Given the description of an element on the screen output the (x, y) to click on. 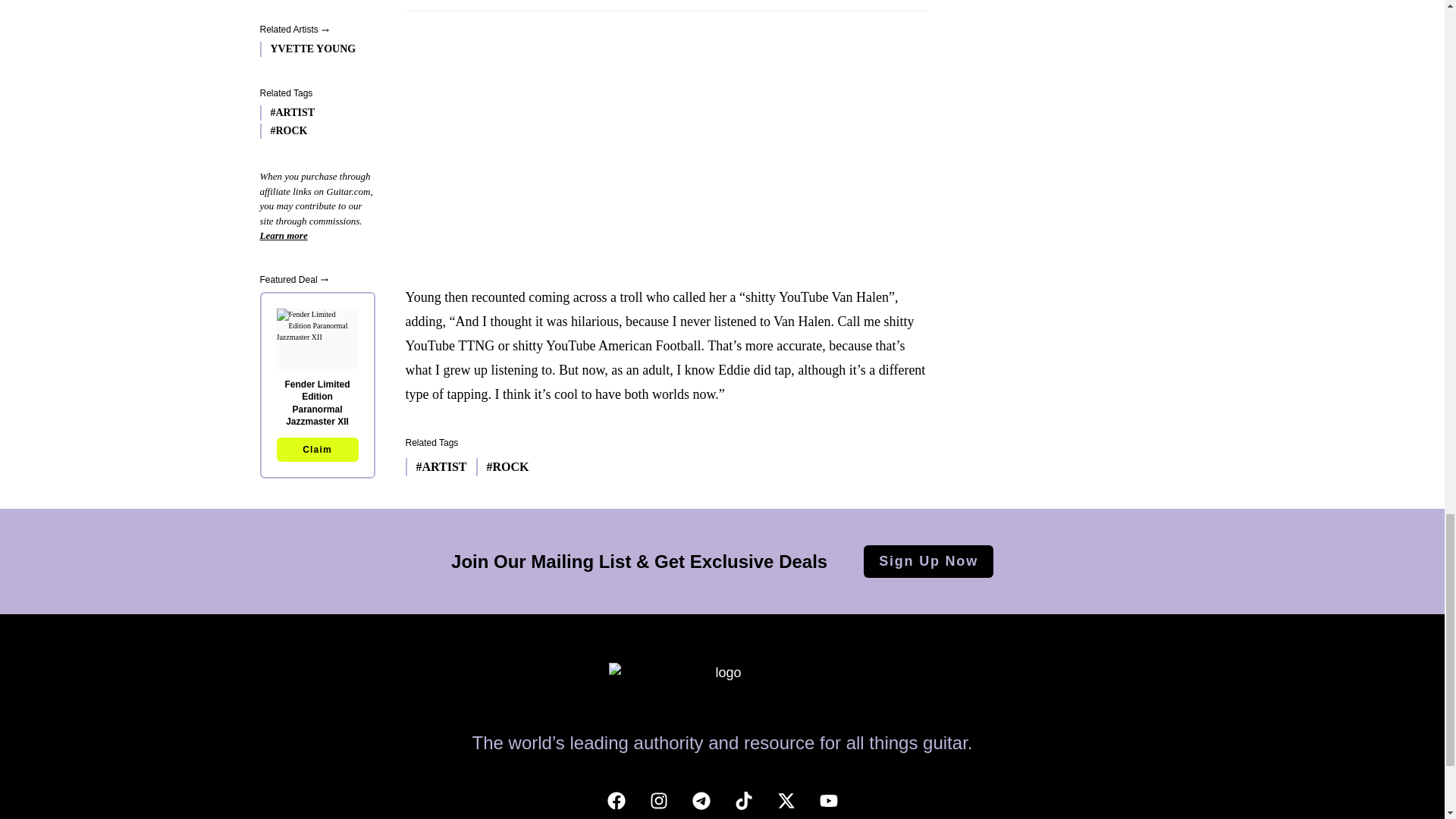
Artist (434, 466)
Rock (502, 466)
